Given the description of an element on the screen output the (x, y) to click on. 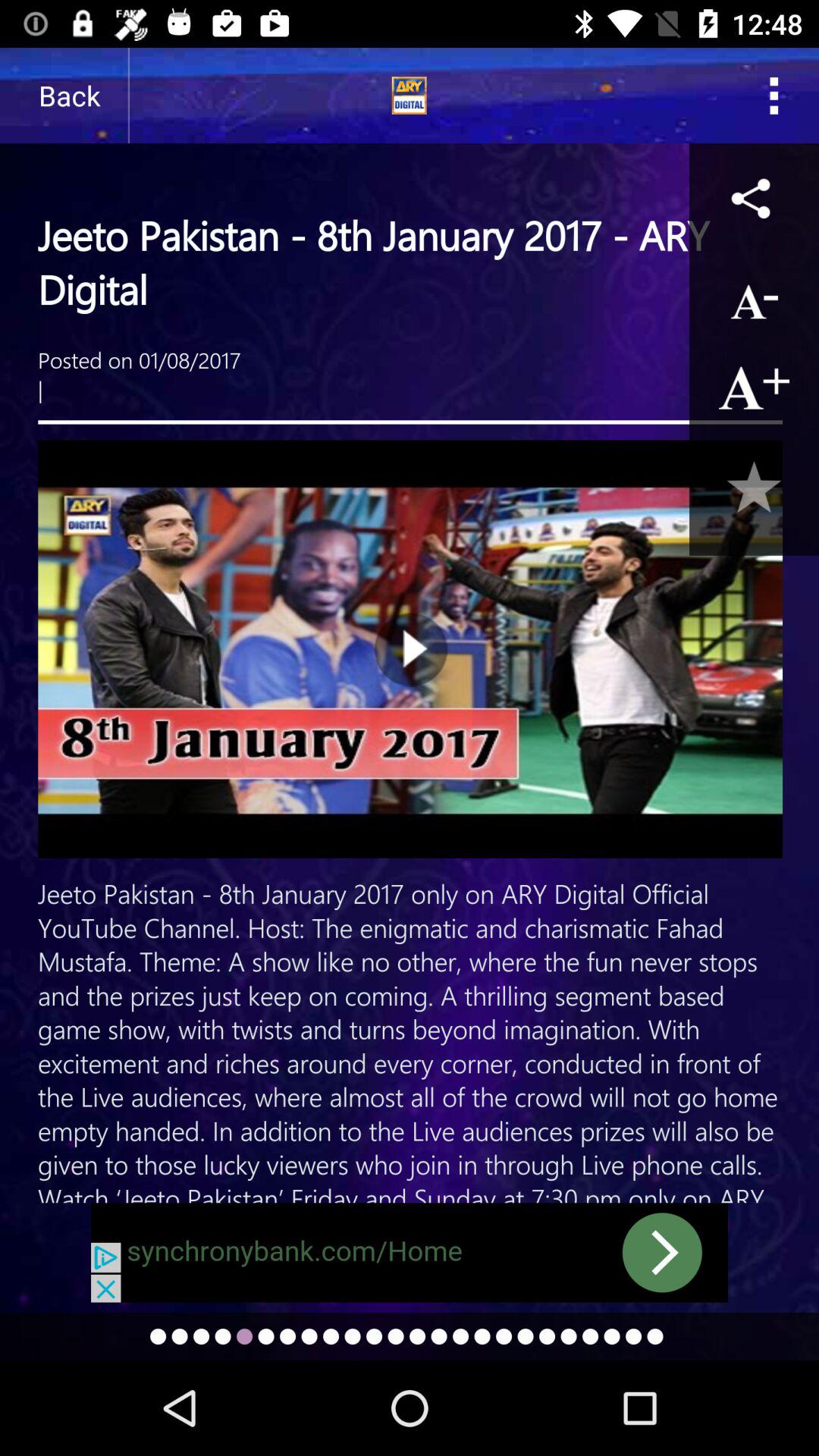
show advertisements detail (409, 1252)
